Given the description of an element on the screen output the (x, y) to click on. 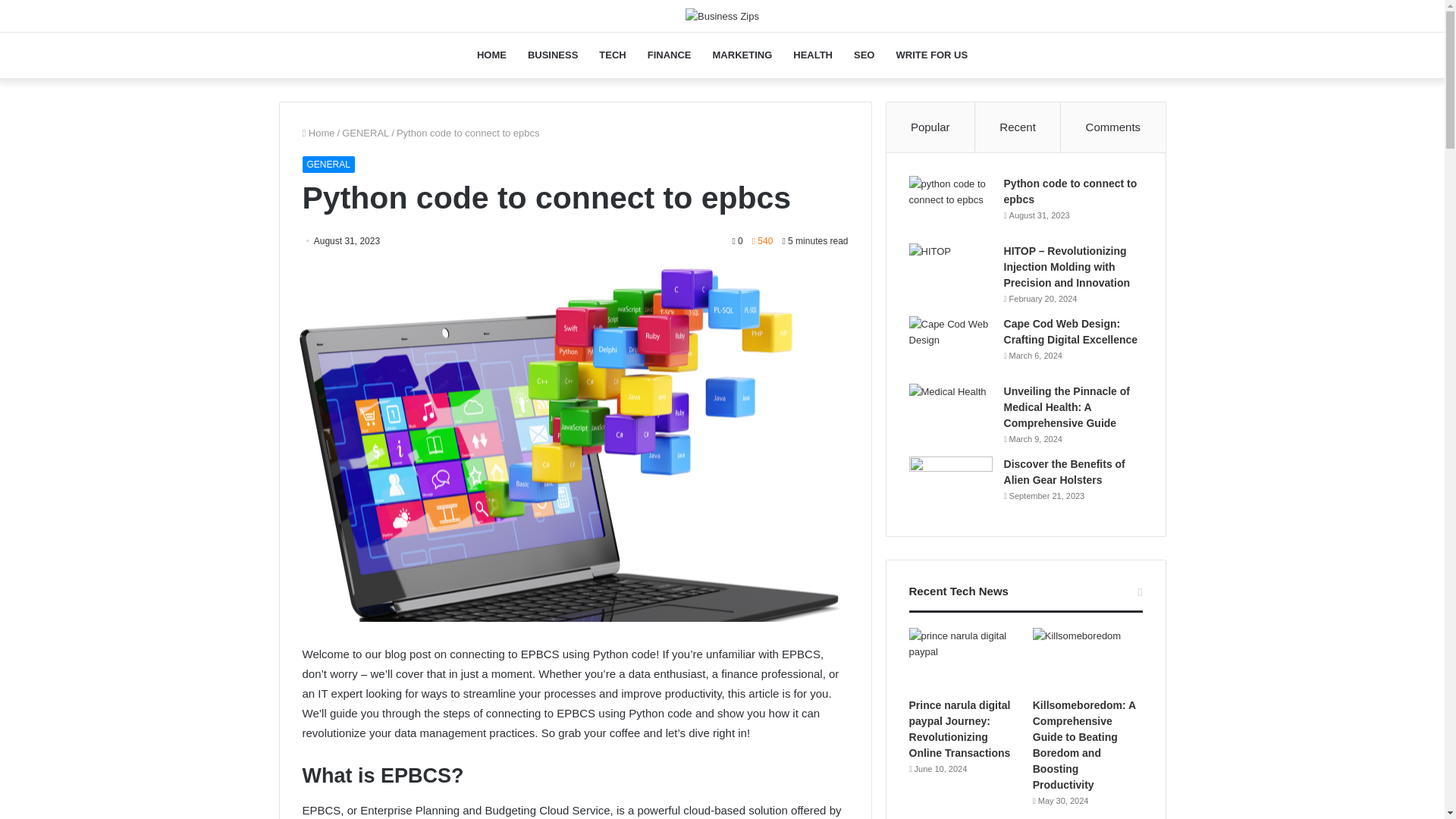
Popular (930, 127)
MARKETING (742, 54)
GENERAL (327, 164)
TECH (612, 54)
FINANCE (669, 54)
HEALTH (813, 54)
BUSINESS (552, 54)
Business Zips (721, 15)
Recent (1018, 127)
Comments (1112, 127)
